Given the description of an element on the screen output the (x, y) to click on. 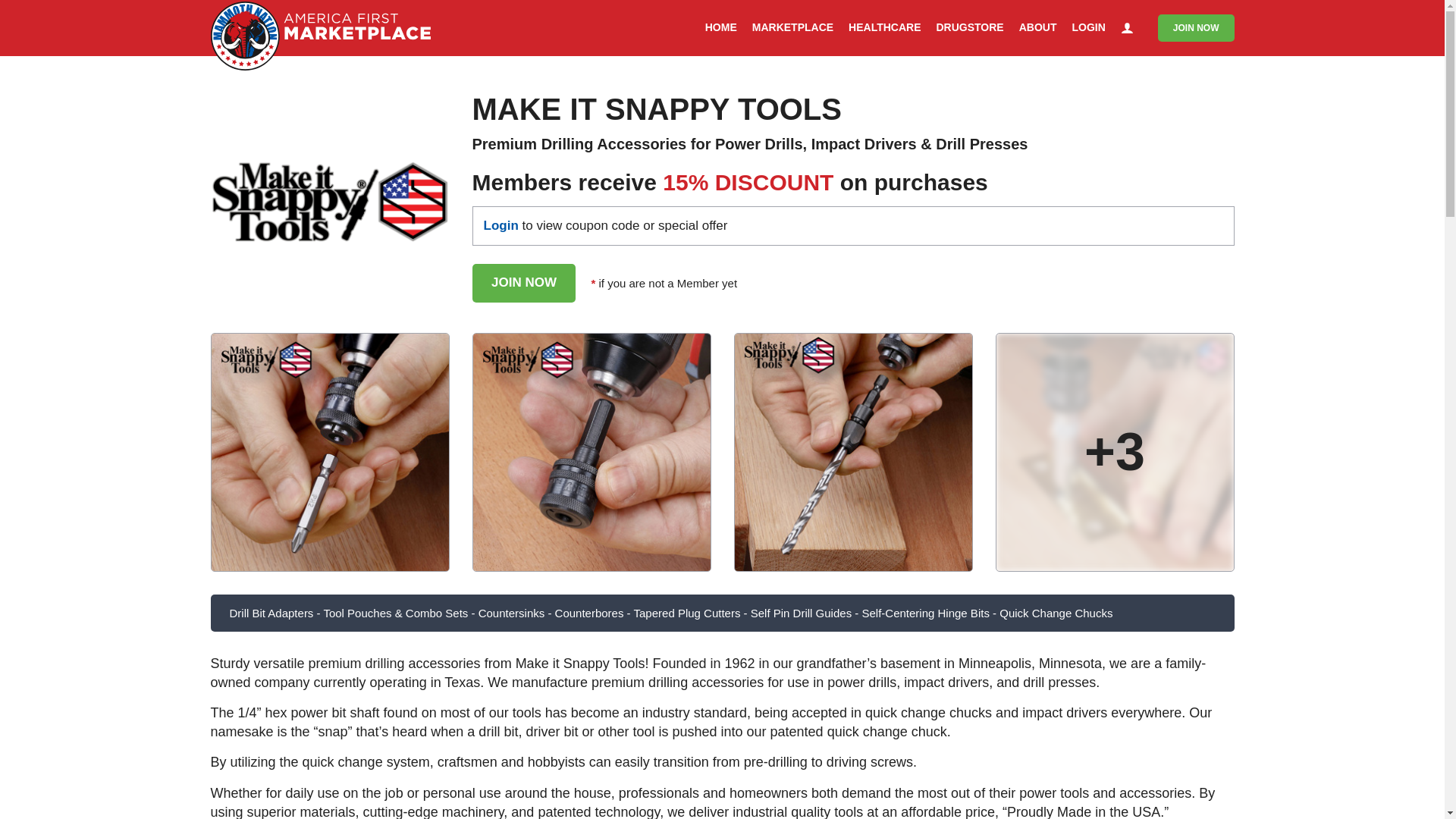
HEALTHCARE (884, 28)
LOGIN (1088, 28)
JOIN NOW (523, 282)
JOIN NOW (1195, 27)
MARKETPLACE (792, 28)
Mammoth Over The Counter Health and Medical Supplies (969, 28)
ABOUT (1038, 28)
Login (500, 225)
DRUGSTORE (969, 28)
HOME (720, 28)
